Given the description of an element on the screen output the (x, y) to click on. 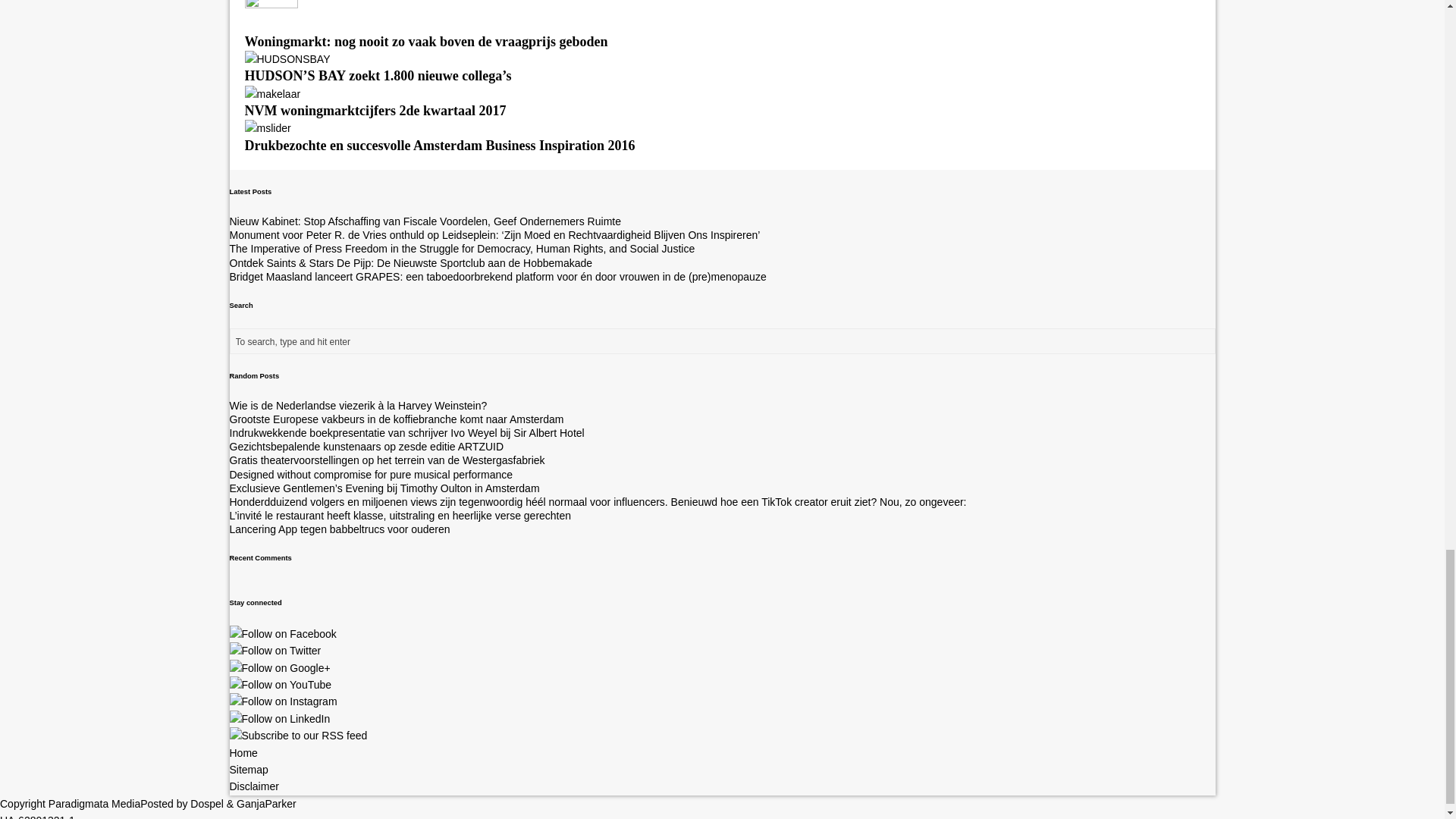
NVM woningmarktcijfers 2de kwartaal 2017 (271, 93)
To search, type and hit enter (722, 341)
Woningmarkt: nog nooit zo vaak boven de vraagprijs geboden (270, 24)
